Given the description of an element on the screen output the (x, y) to click on. 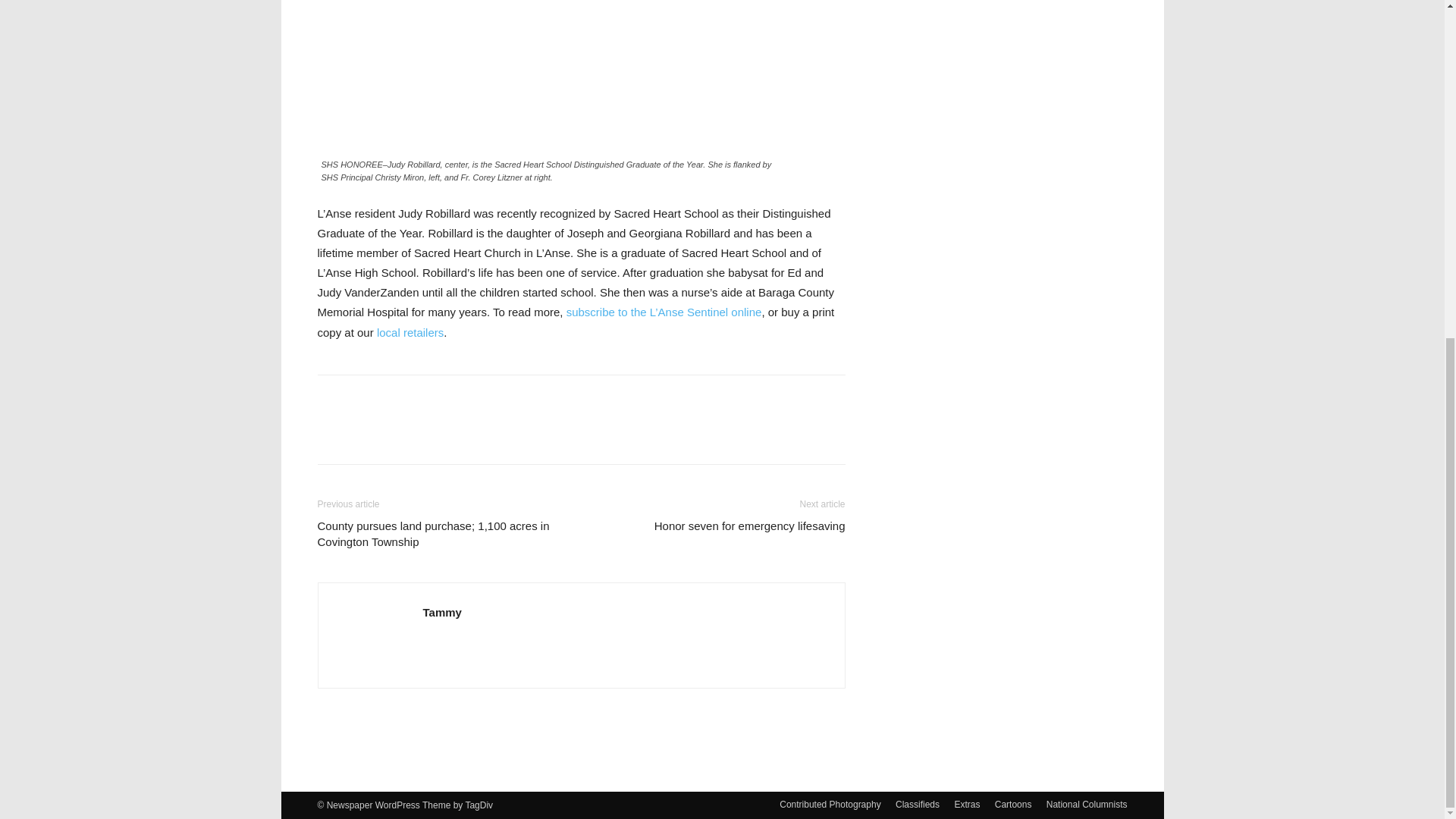
local retailers (410, 332)
Honor seven for emergency lifesaving (749, 525)
Tammy (442, 612)
bottomFacebookLike (430, 399)
